Given the description of an element on the screen output the (x, y) to click on. 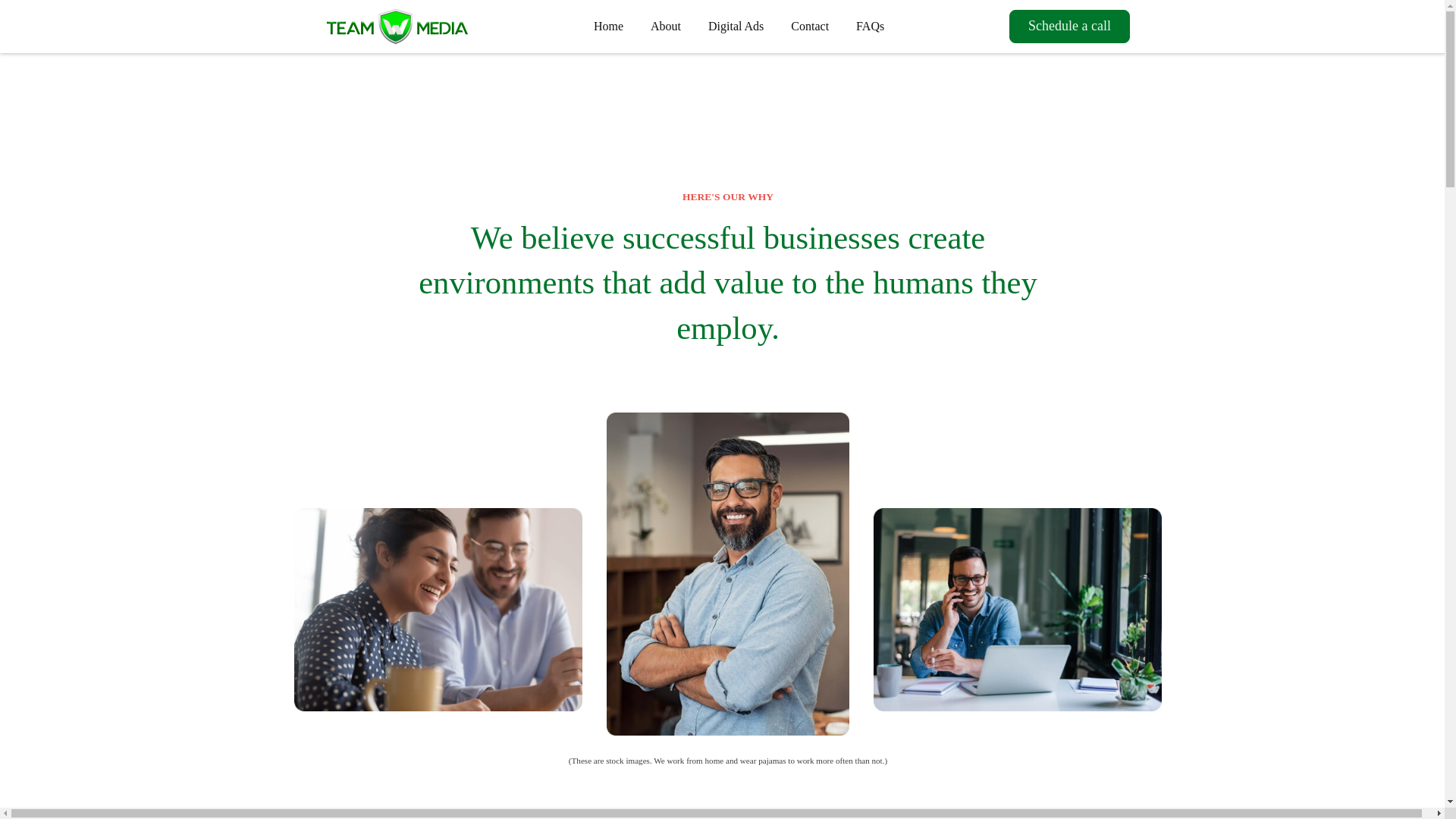
FAQs (870, 26)
Contact (810, 26)
Schedule a call (1069, 26)
Home (608, 26)
About (665, 26)
Digital Ads (735, 26)
